Given the description of an element on the screen output the (x, y) to click on. 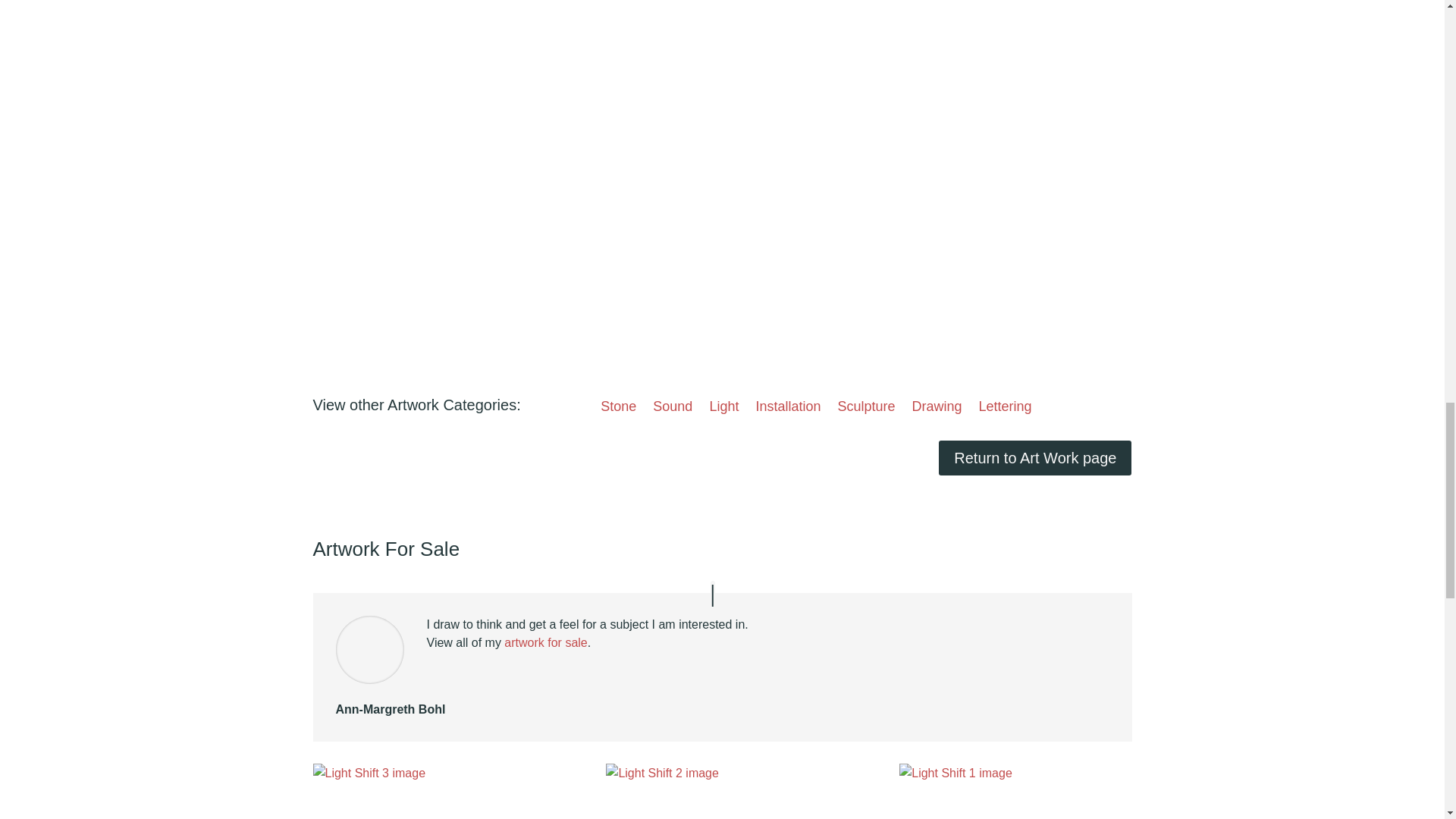
Stone (617, 409)
Light (723, 409)
Sound (672, 409)
Installation (788, 409)
